Given the description of an element on the screen output the (x, y) to click on. 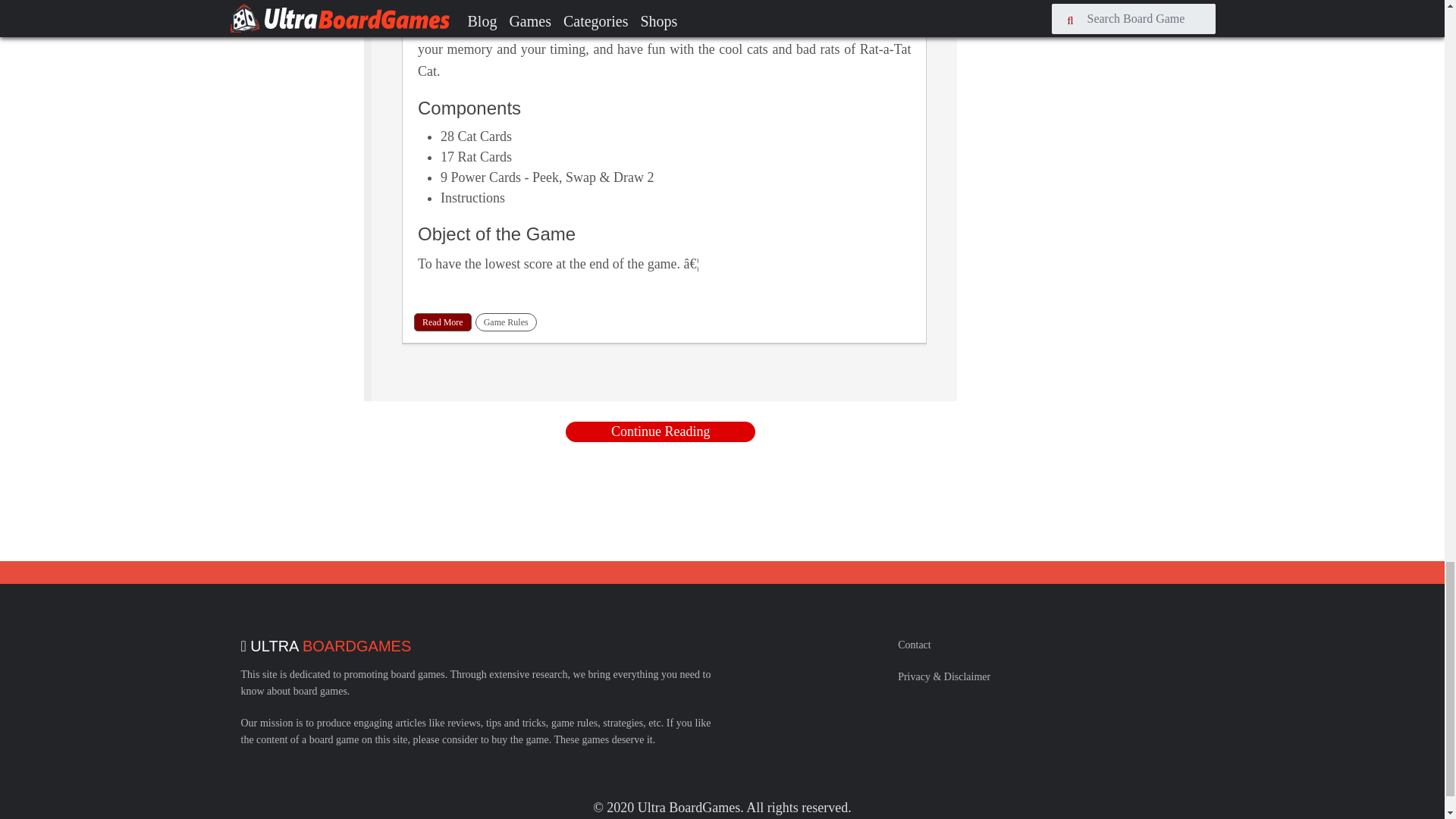
Read More (442, 321)
Continue Reading (660, 431)
Game Rules (506, 321)
Contact (914, 644)
